Given the description of an element on the screen output the (x, y) to click on. 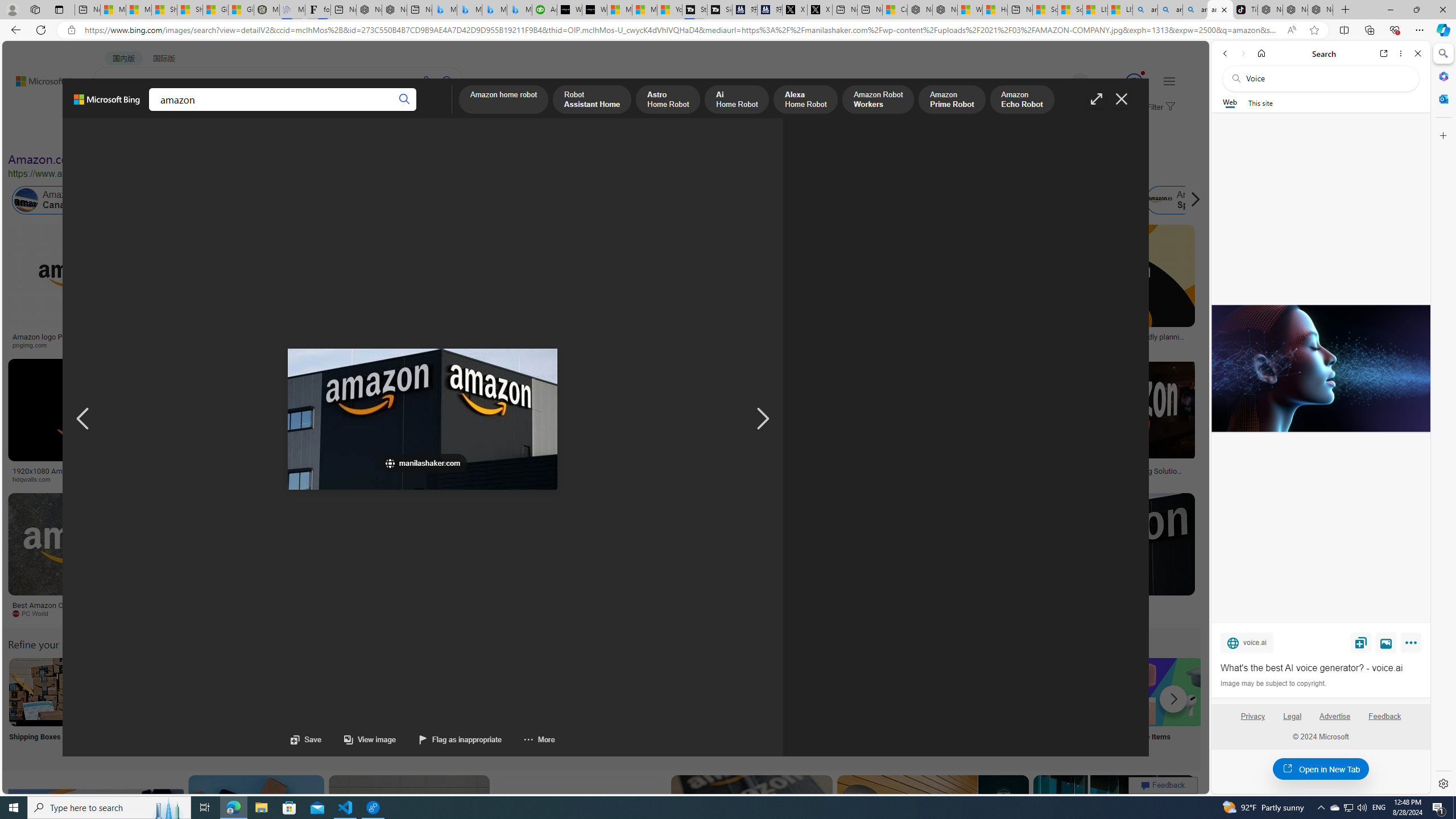
Amazon Echo Dot 4th Gen (673, 264)
Search the web (1326, 78)
Dropdown Menu (443, 111)
Mini TV (794, 706)
Huge shark washes ashore at New York City beach | Watch (993, 9)
GOBankingRates (225, 479)
voice.ai (1247, 642)
People (295, 135)
IMAGES (156, 111)
